Given the description of an element on the screen output the (x, y) to click on. 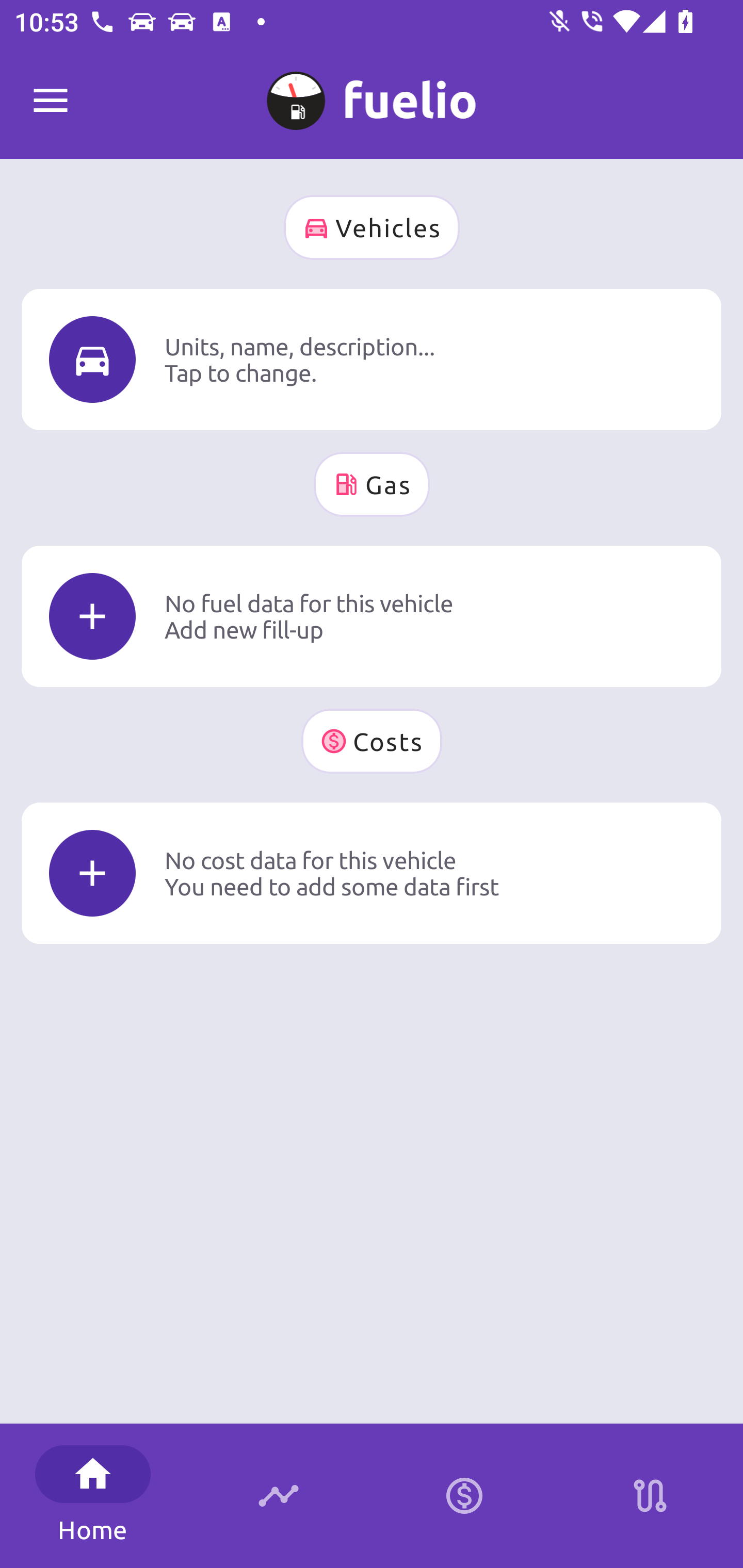
M My Car 0 km (371, 92)
Fuelio (50, 101)
Vehicles (371, 227)
Icon Units, name, description...
Tap to change. (371, 358)
Icon (92, 359)
Gas (371, 484)
Icon No fuel data for this vehicle
Add new fill-up (371, 615)
Icon (92, 616)
Costs (371, 740)
Icon (92, 873)
Timeline (278, 1495)
Calculator (464, 1495)
Stations on route (650, 1495)
